Given the description of an element on the screen output the (x, y) to click on. 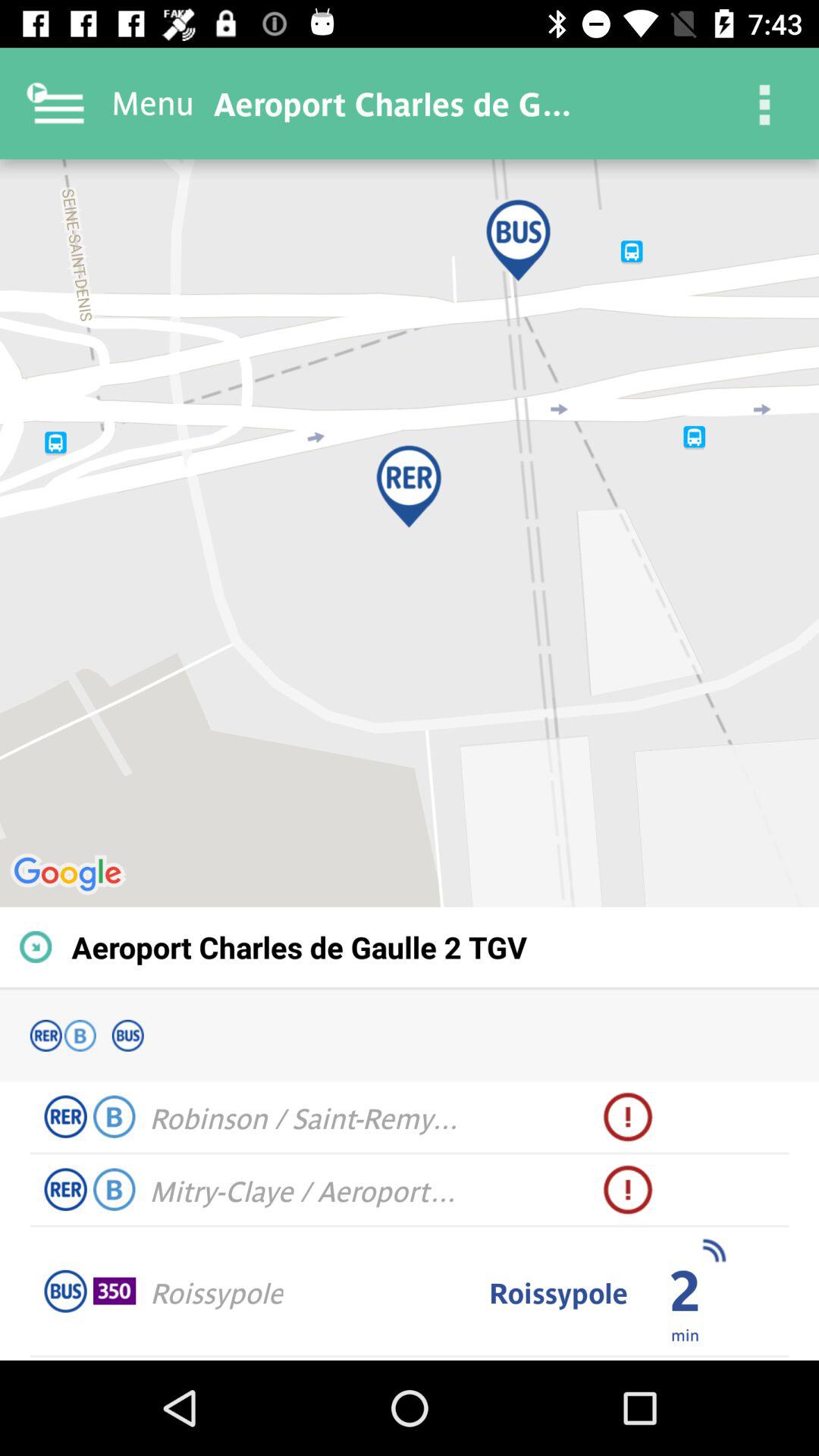
turn on item next to the aeroport charles de item (763, 103)
